Given the description of an element on the screen output the (x, y) to click on. 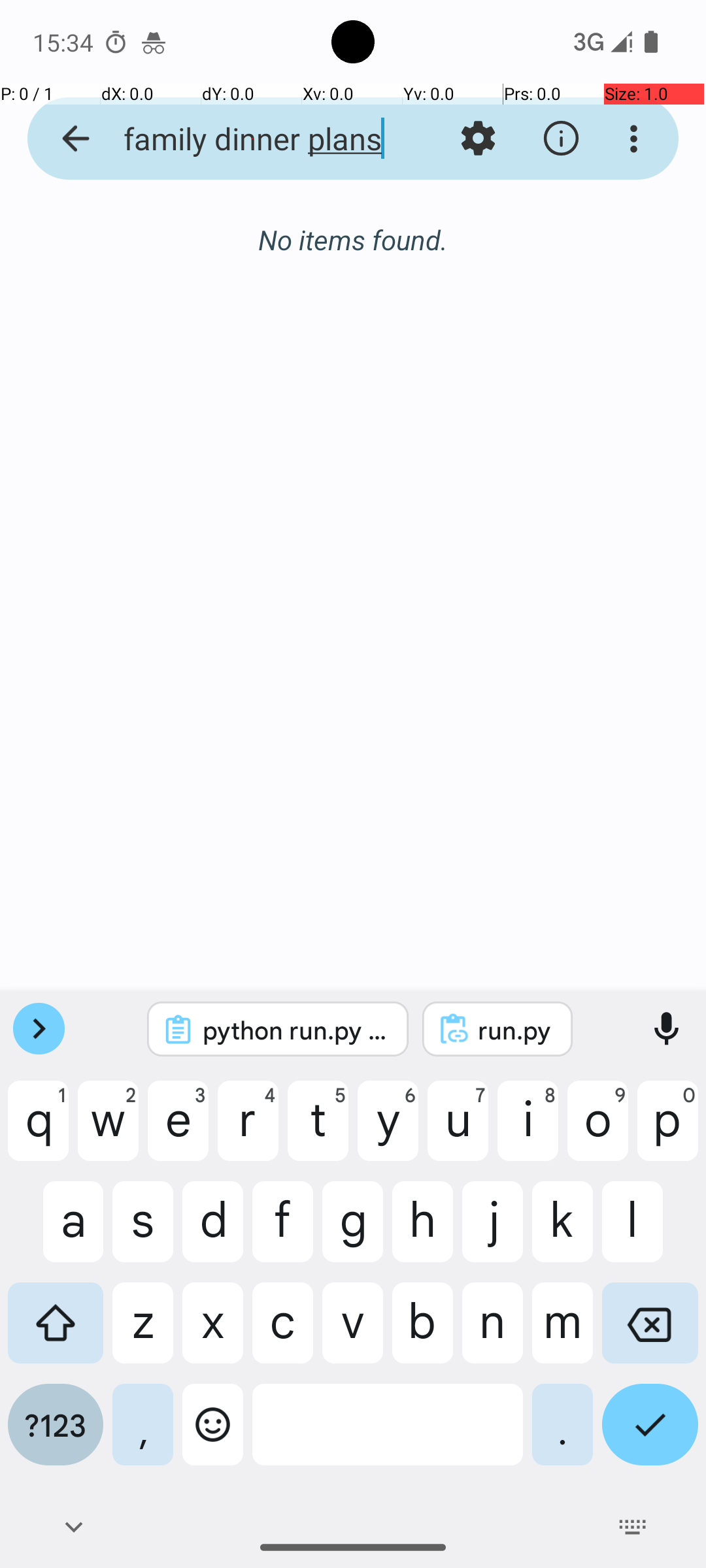
family dinner plans Element type: android.widget.EditText (252, 138)
